Given the description of an element on the screen output the (x, y) to click on. 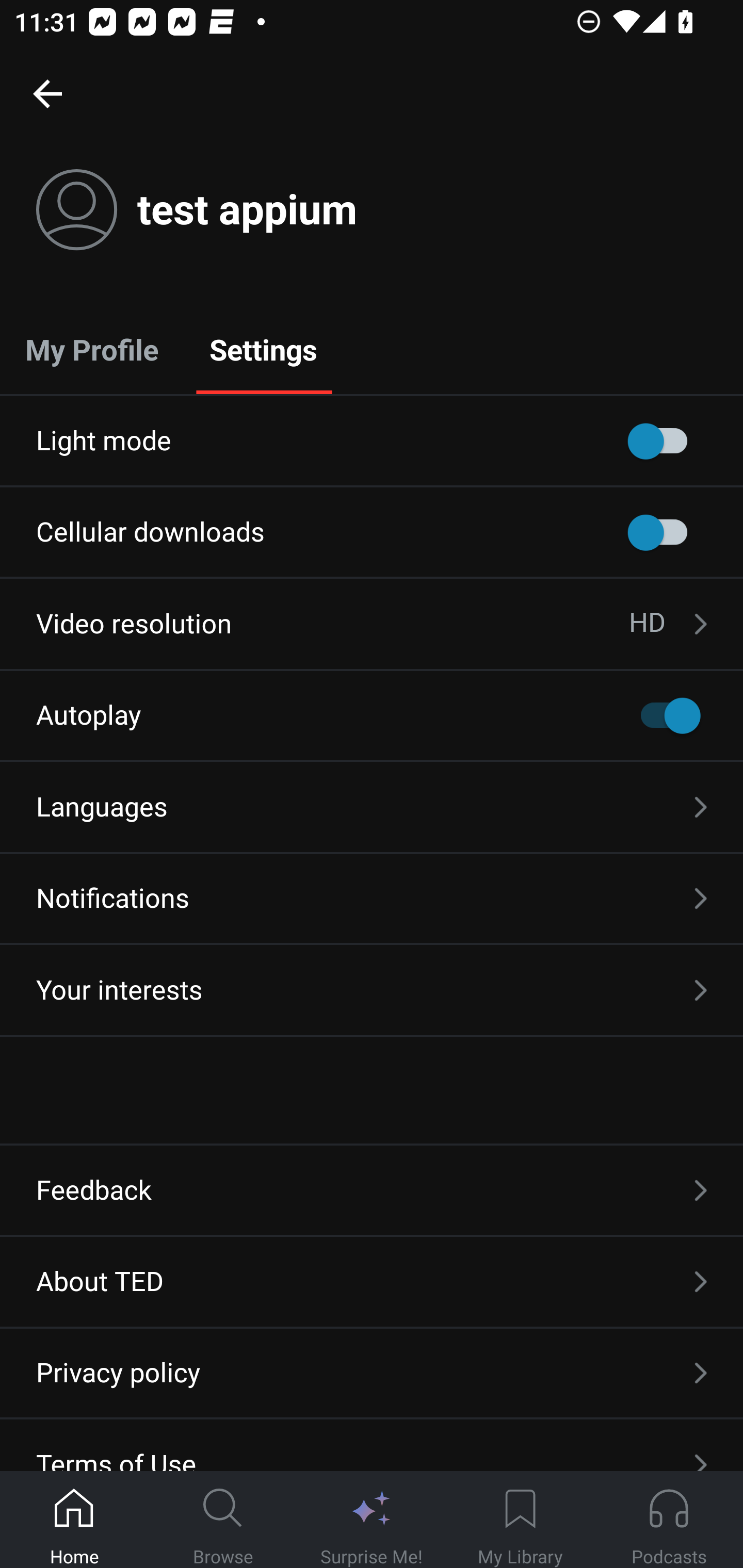
Home, back (47, 92)
My Profile (92, 348)
Settings (263, 348)
Video resolution HD (371, 623)
Languages (371, 806)
Notifications (371, 897)
Your interests (371, 989)
Feedback (371, 1190)
About TED (371, 1281)
Privacy policy (371, 1372)
Home (74, 1520)
Browse (222, 1520)
Surprise Me! (371, 1520)
My Library (519, 1520)
Podcasts (668, 1520)
